Given the description of an element on the screen output the (x, y) to click on. 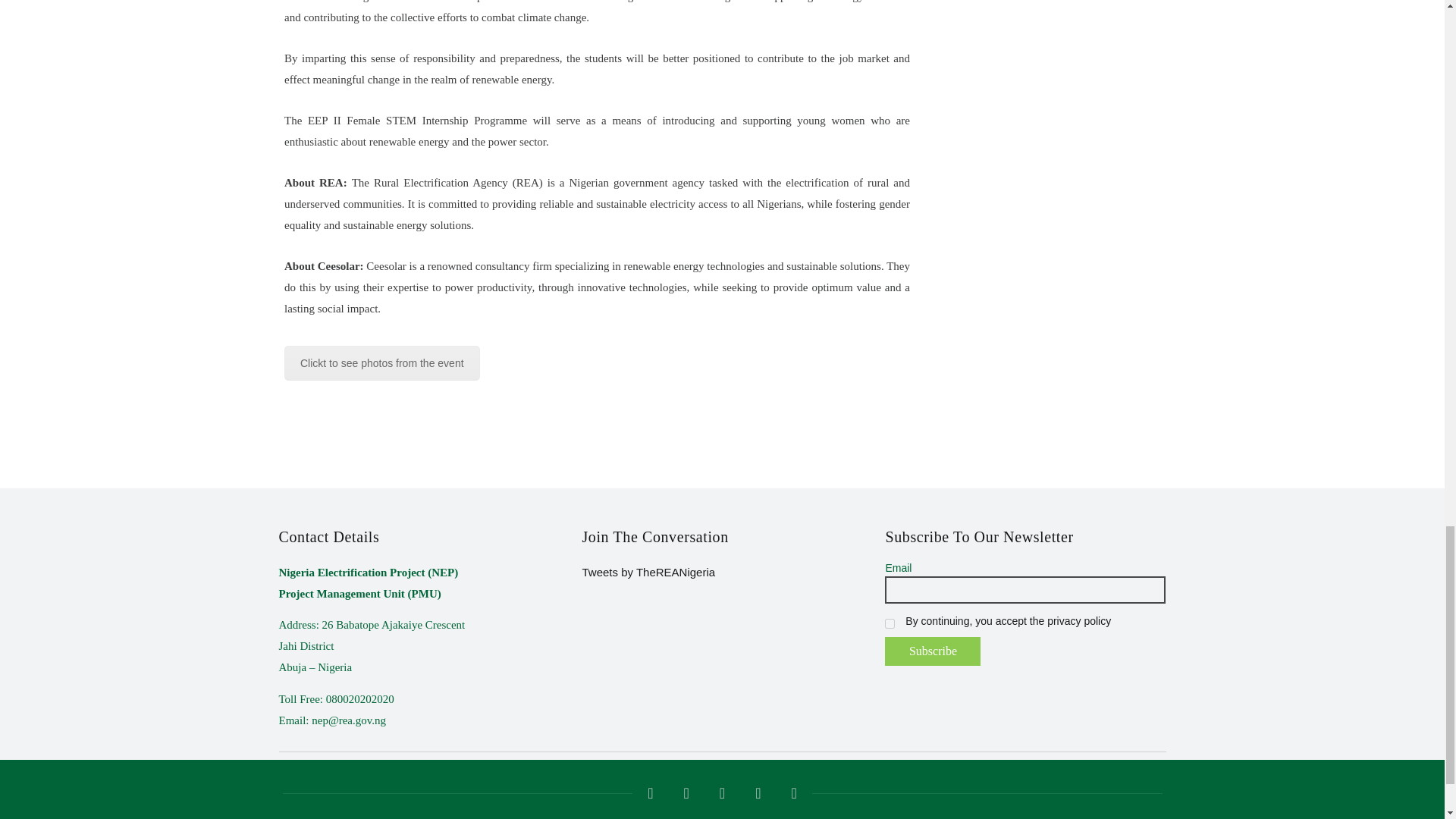
Subscribe (932, 651)
on (890, 623)
Click to see photos (381, 362)
